Given the description of an element on the screen output the (x, y) to click on. 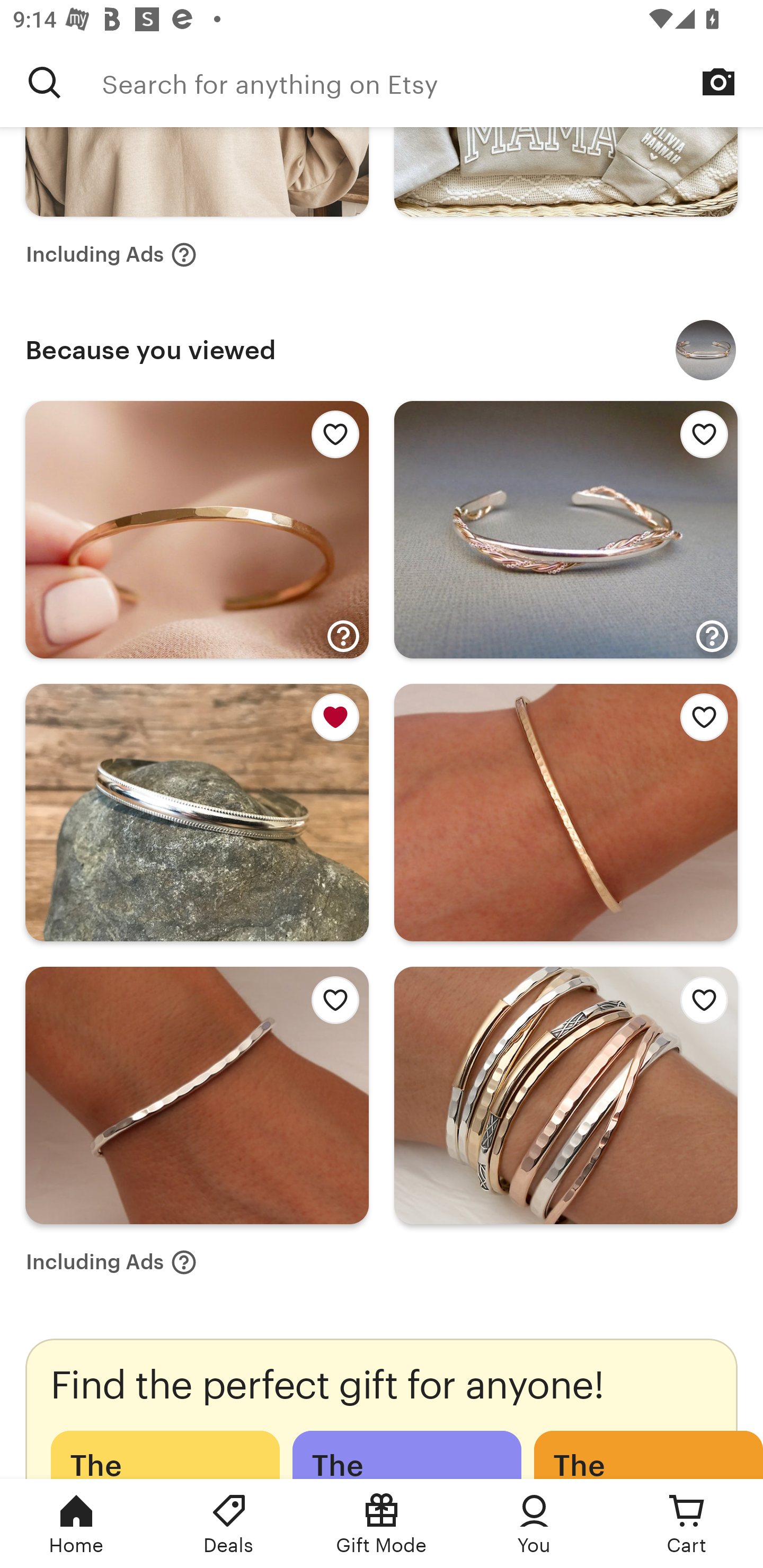
Search for anything on Etsy (44, 82)
Search by image (718, 81)
Search for anything on Etsy (432, 82)
Including Ads (111, 254)
Including Ads (111, 1261)
Find the perfect gift for anyone! (381, 1408)
Deals (228, 1523)
Gift Mode (381, 1523)
You (533, 1523)
Cart (686, 1523)
